Given the description of an element on the screen output the (x, y) to click on. 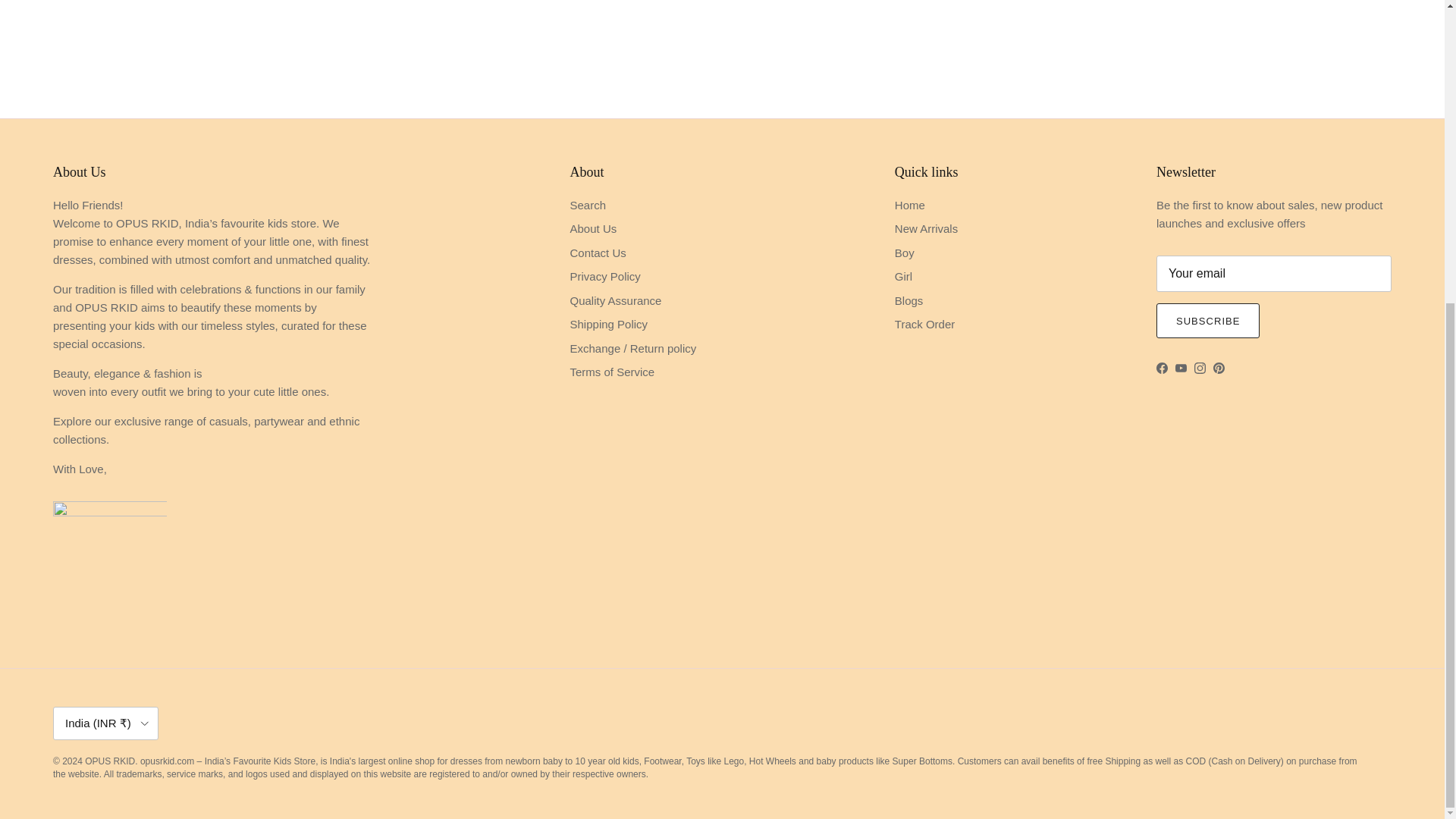
OPUS RKID on Instagram (1199, 367)
OPUS RKID on Pinterest (1218, 367)
OPUS RKID on Facebook (1161, 367)
OPUS RKID on YouTube (1180, 367)
